Given the description of an element on the screen output the (x, y) to click on. 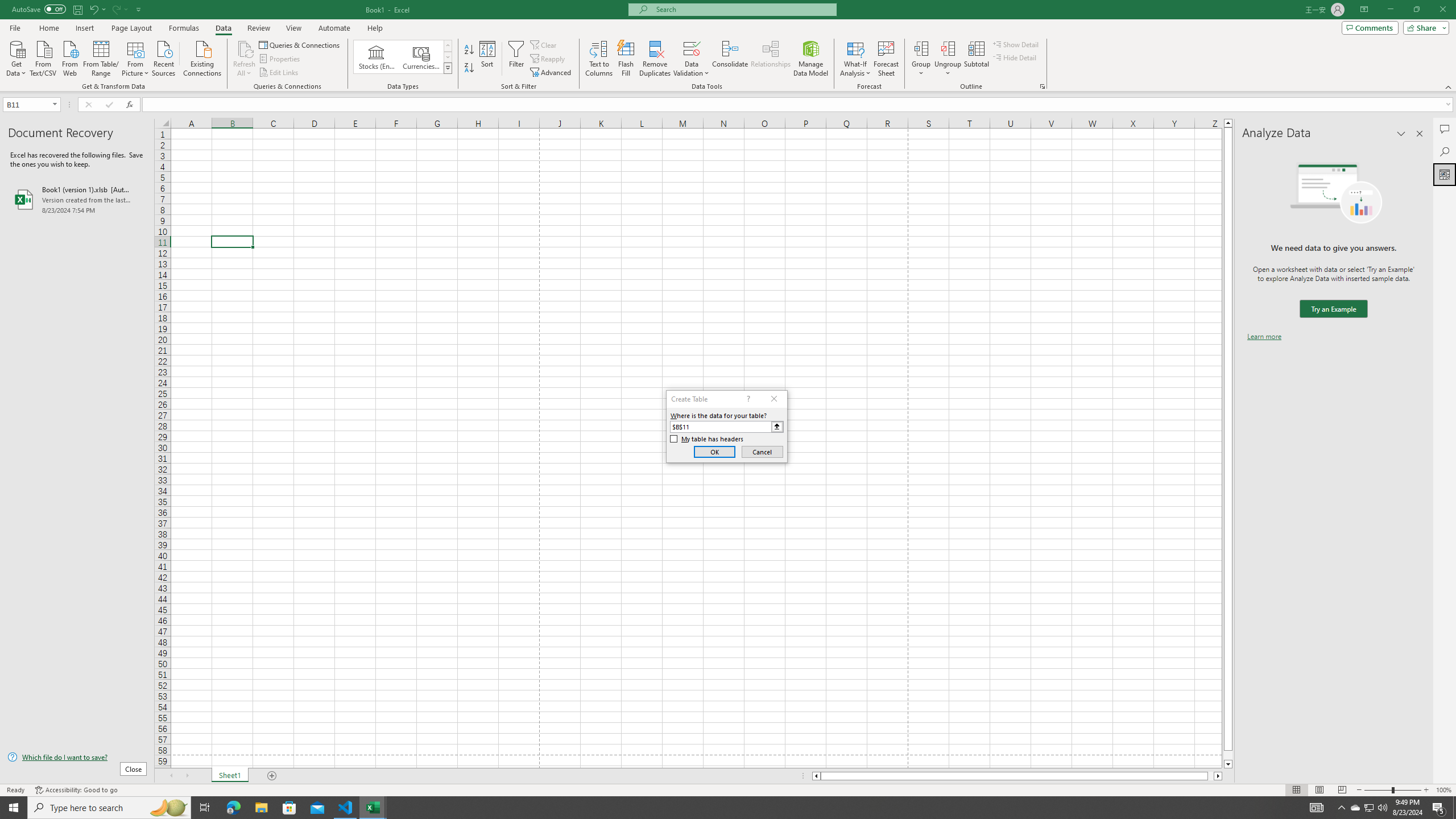
Data Types (448, 67)
Class: MsoCommandBar (728, 45)
Currencies (English) (420, 56)
We need data to give you answers. Try an Example (1333, 308)
